Given the description of an element on the screen output the (x, y) to click on. 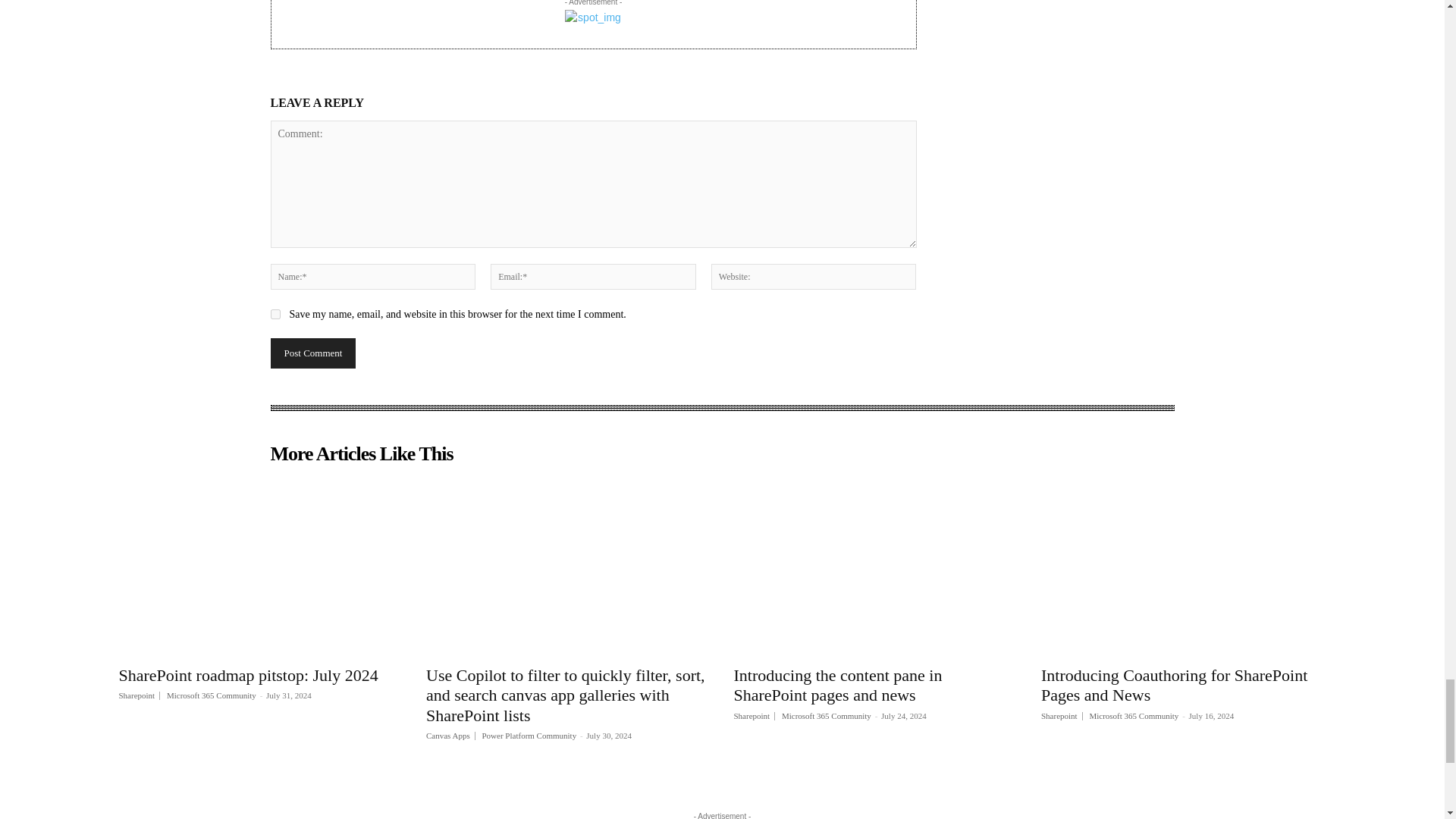
Post Comment (312, 353)
yes (274, 314)
